Given the description of an element on the screen output the (x, y) to click on. 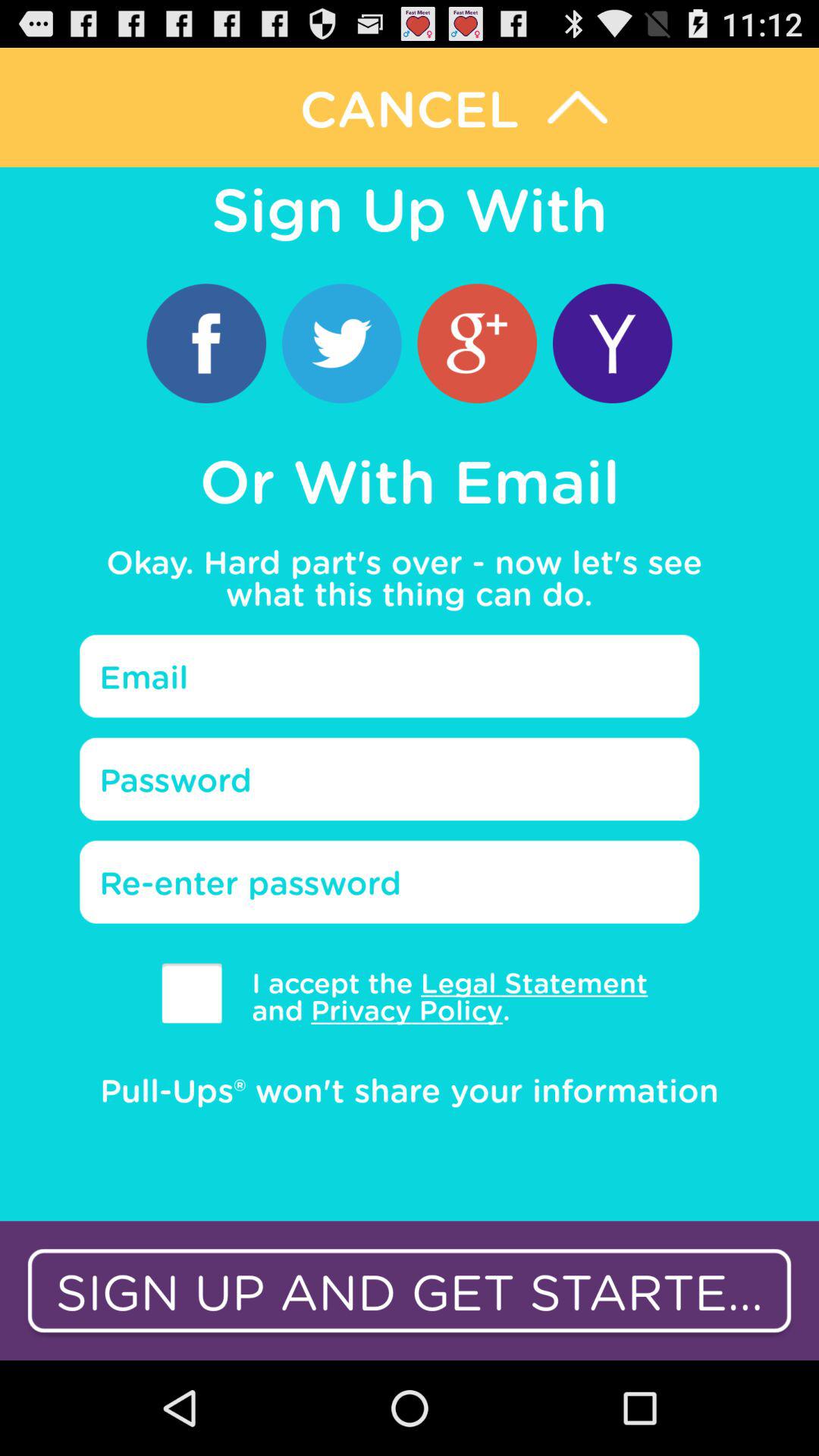
select the item above or with email icon (206, 343)
